Given the description of an element on the screen output the (x, y) to click on. 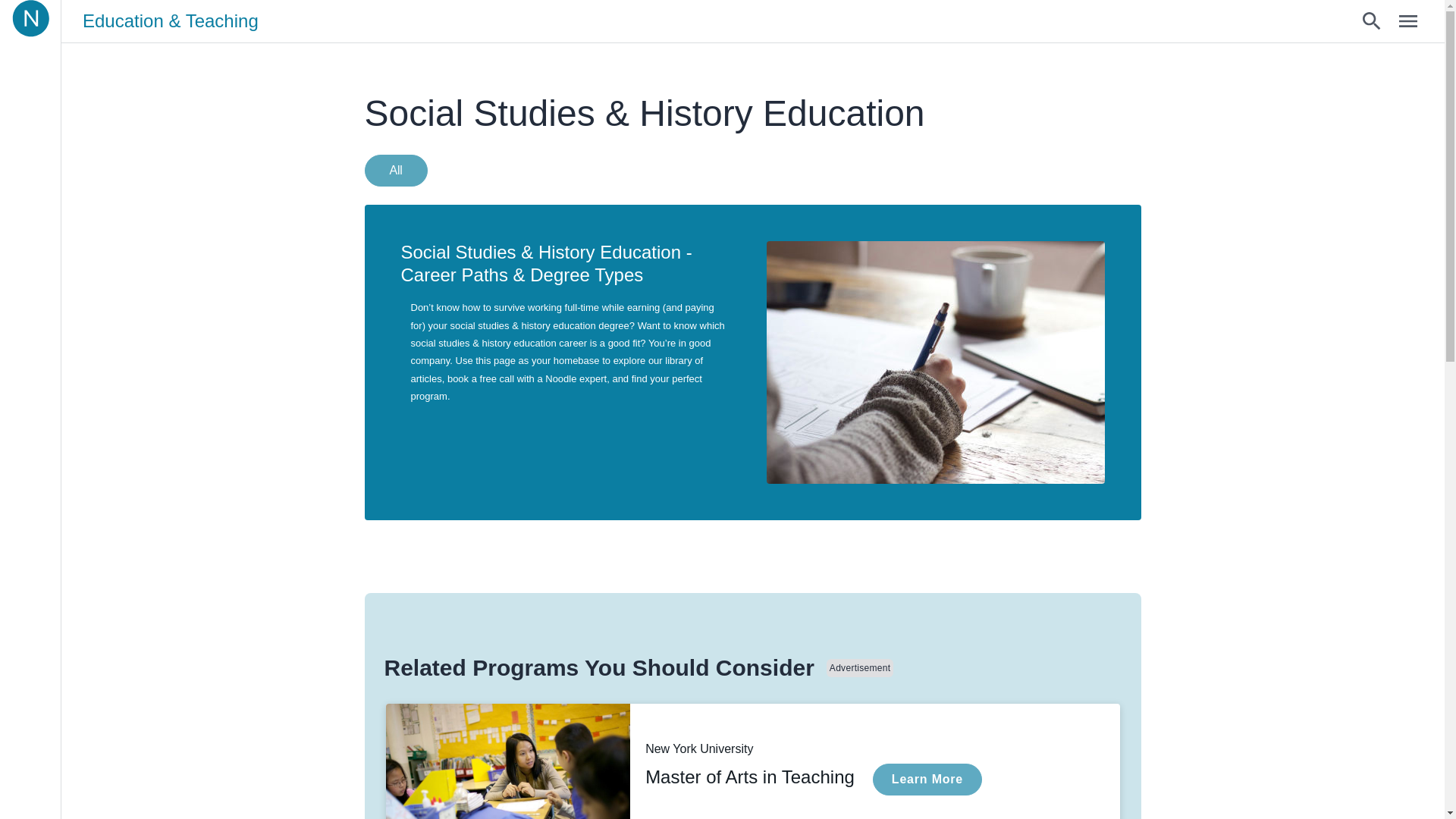
All (395, 170)
Menu (1408, 21)
Learn More (926, 779)
All (398, 170)
Search (752, 761)
